Given the description of an element on the screen output the (x, y) to click on. 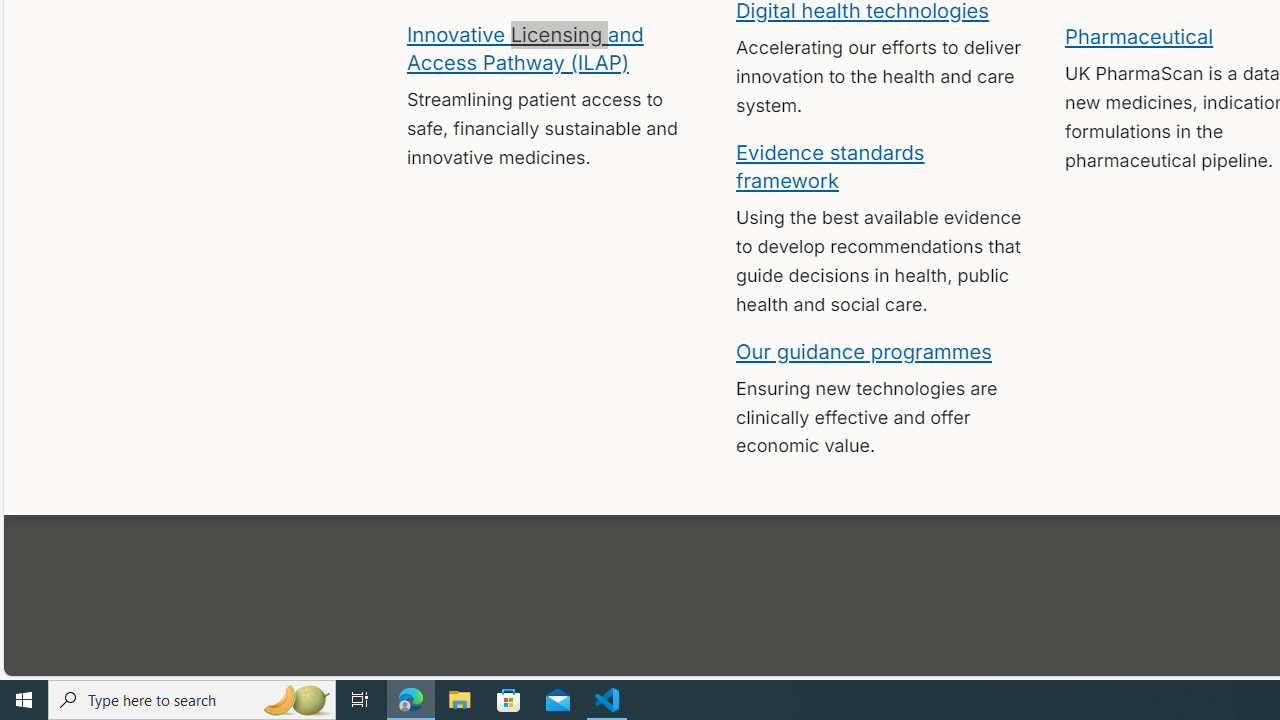
Evidence standards framework (829, 165)
Innovative Licensing and Access Pathway (ILAP) (524, 47)
Our guidance programmes (863, 350)
Pharmaceutical (1138, 35)
